Given the description of an element on the screen output the (x, y) to click on. 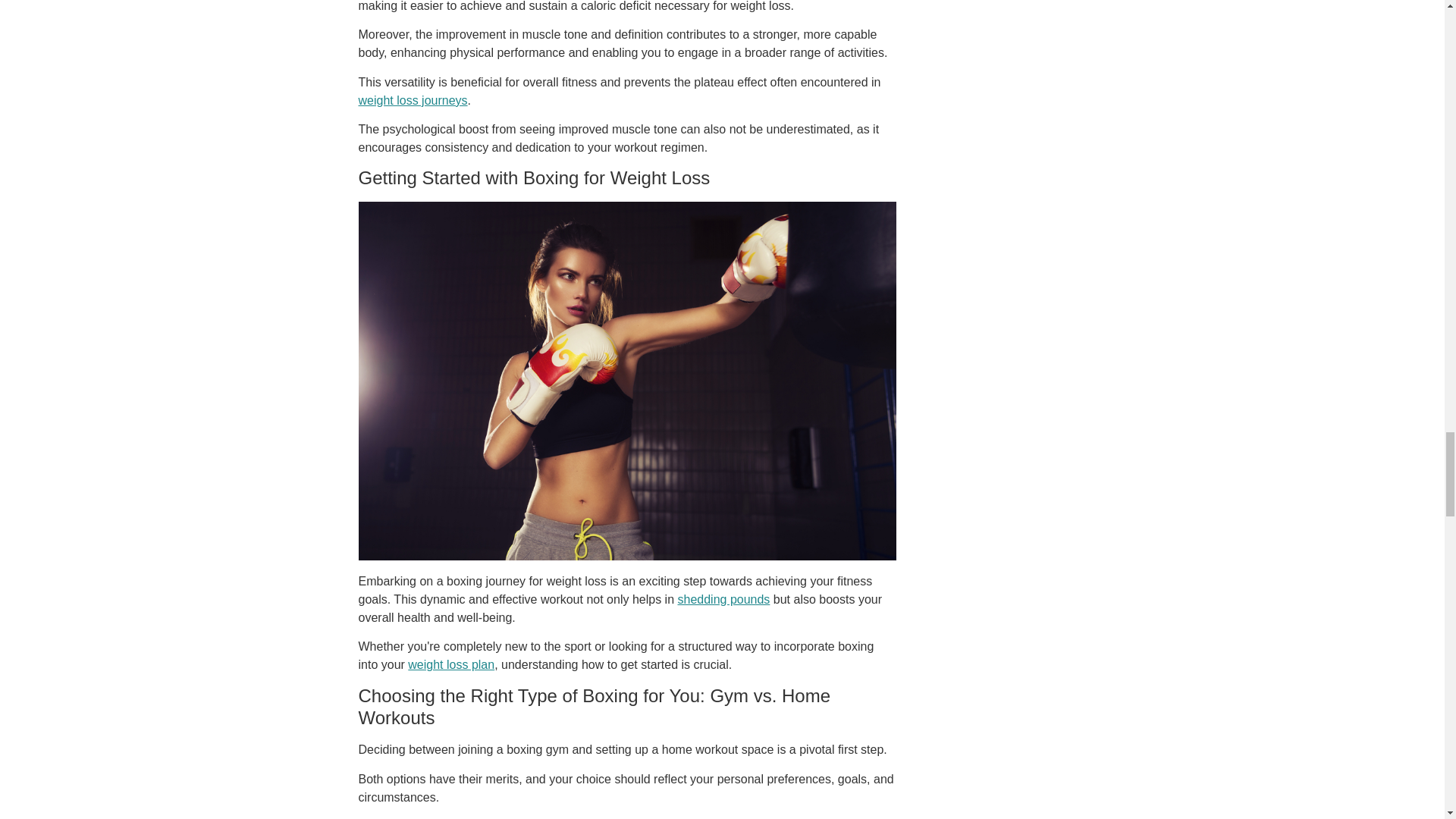
weight loss journeys (412, 100)
weight loss plan (451, 664)
shedding pounds (723, 599)
